Given the description of an element on the screen output the (x, y) to click on. 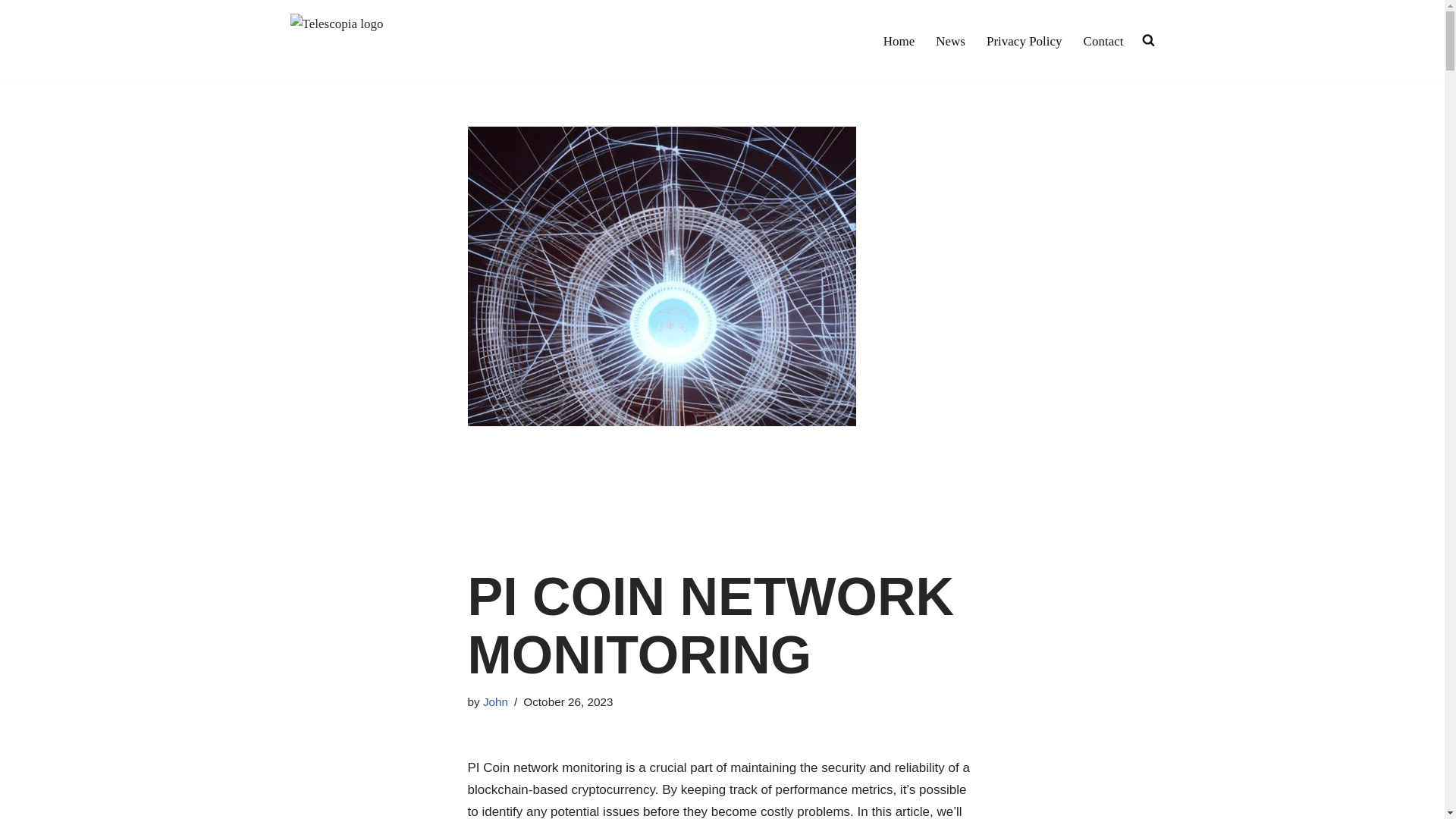
John (495, 701)
News (950, 40)
Privacy Policy (1024, 40)
Skip to content (11, 31)
Posts by John (495, 701)
Home (899, 40)
Contact (1103, 40)
